Given the description of an element on the screen output the (x, y) to click on. 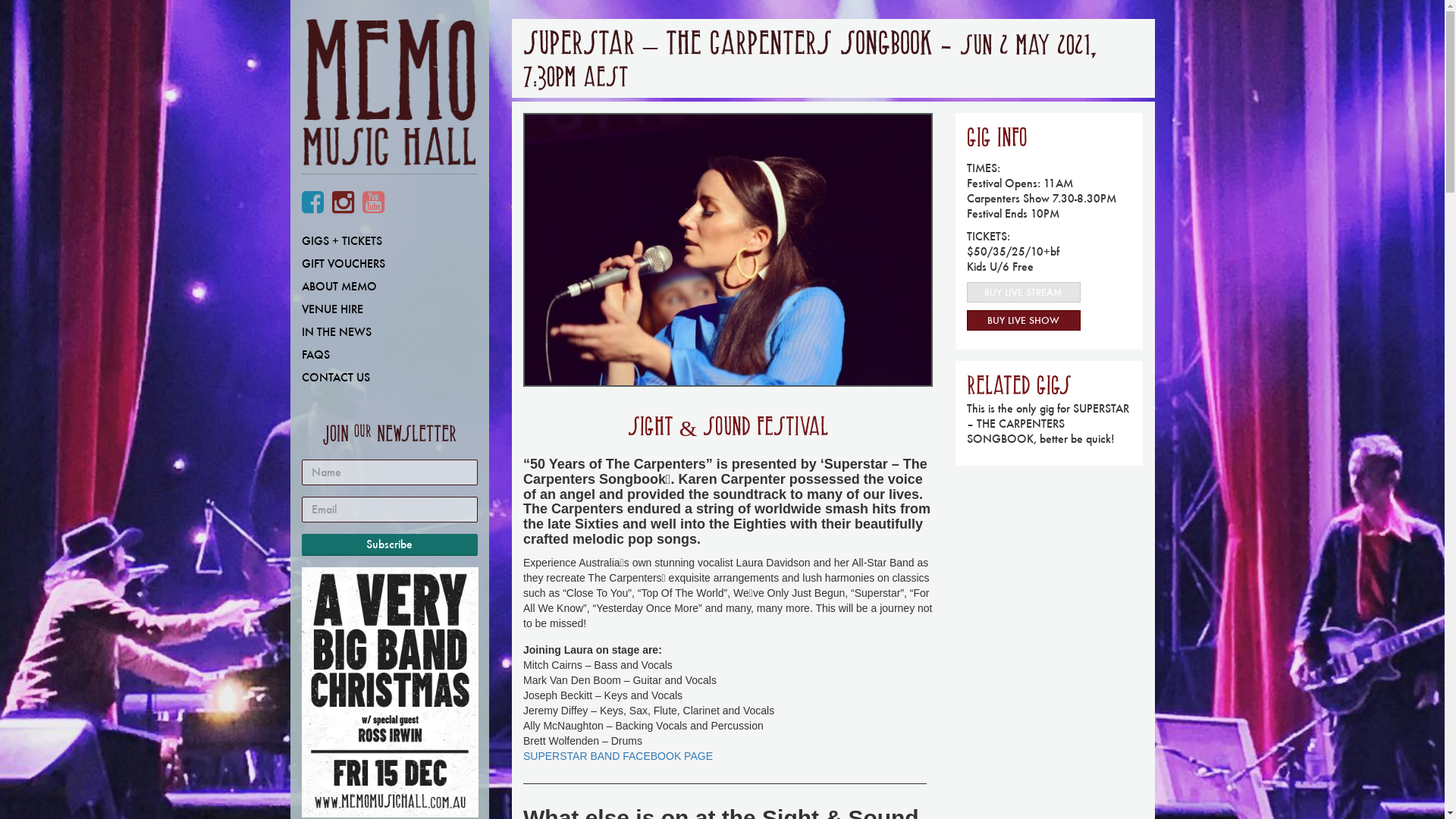
GIFT VOUCHERS Element type: text (389, 263)
FAQS Element type: text (389, 354)
CONTACT US Element type: text (389, 377)
IN THE NEWS Element type: text (389, 331)
Subscribe Element type: text (389, 544)
BUY LIVE STREAM Element type: text (1023, 292)
Memo Music Hall Element type: hover (389, 96)
VENUE HIRE Element type: text (389, 309)
BUY LIVE SHOW Element type: text (1023, 320)
SUPERSTAR BAND FACEBOOK PAGE Element type: text (617, 755)
GIGS + TICKETS Element type: text (389, 240)
ABOUT MEMO Element type: text (389, 286)
